Given the description of an element on the screen output the (x, y) to click on. 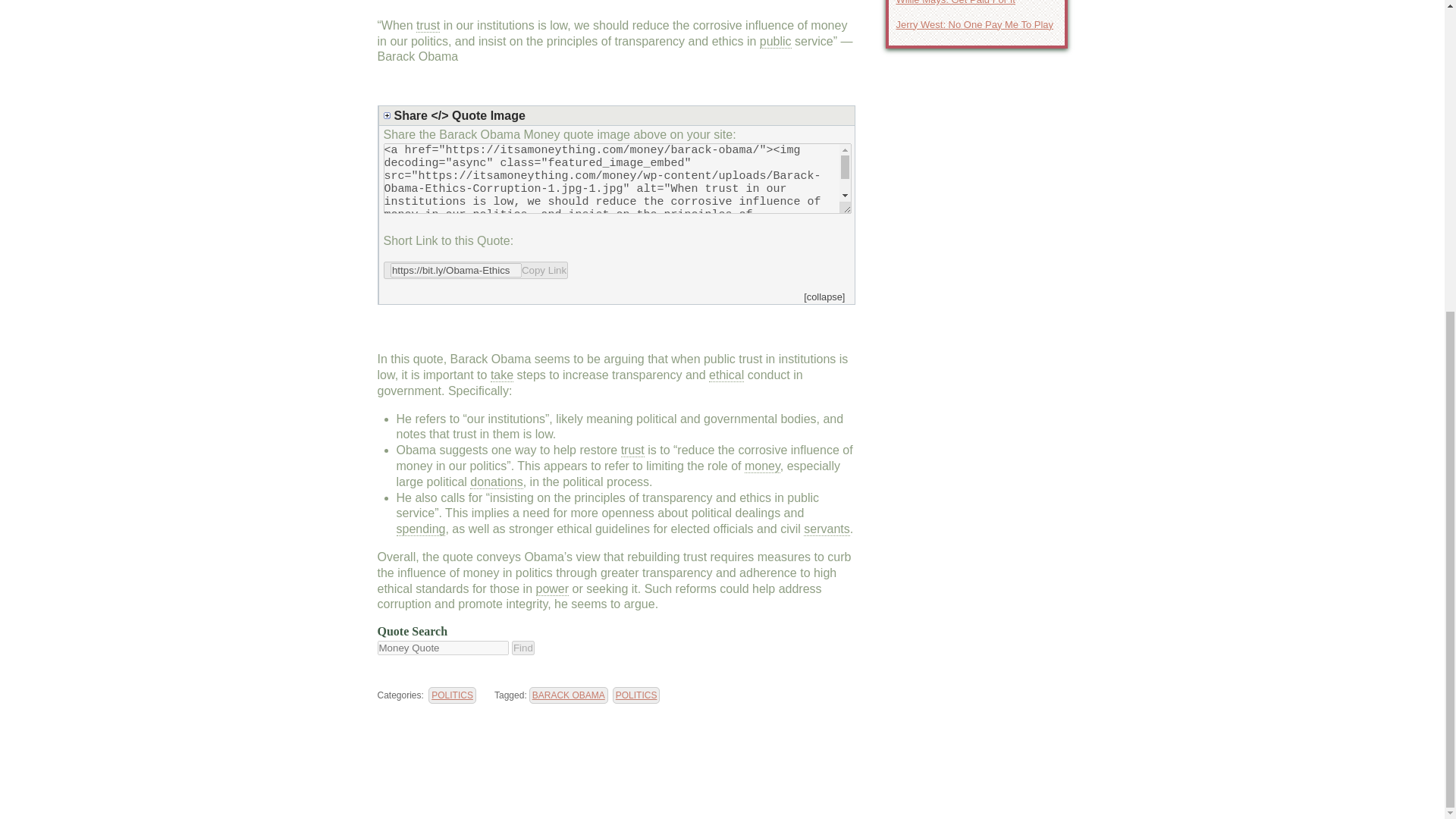
donations (496, 481)
  Copy Link (476, 270)
public (776, 41)
POLITICS (636, 695)
Find (523, 647)
Find (523, 647)
Willie Mays: Get Paid For It (976, 4)
ethical (726, 375)
take (501, 375)
money (762, 466)
